Given the description of an element on the screen output the (x, y) to click on. 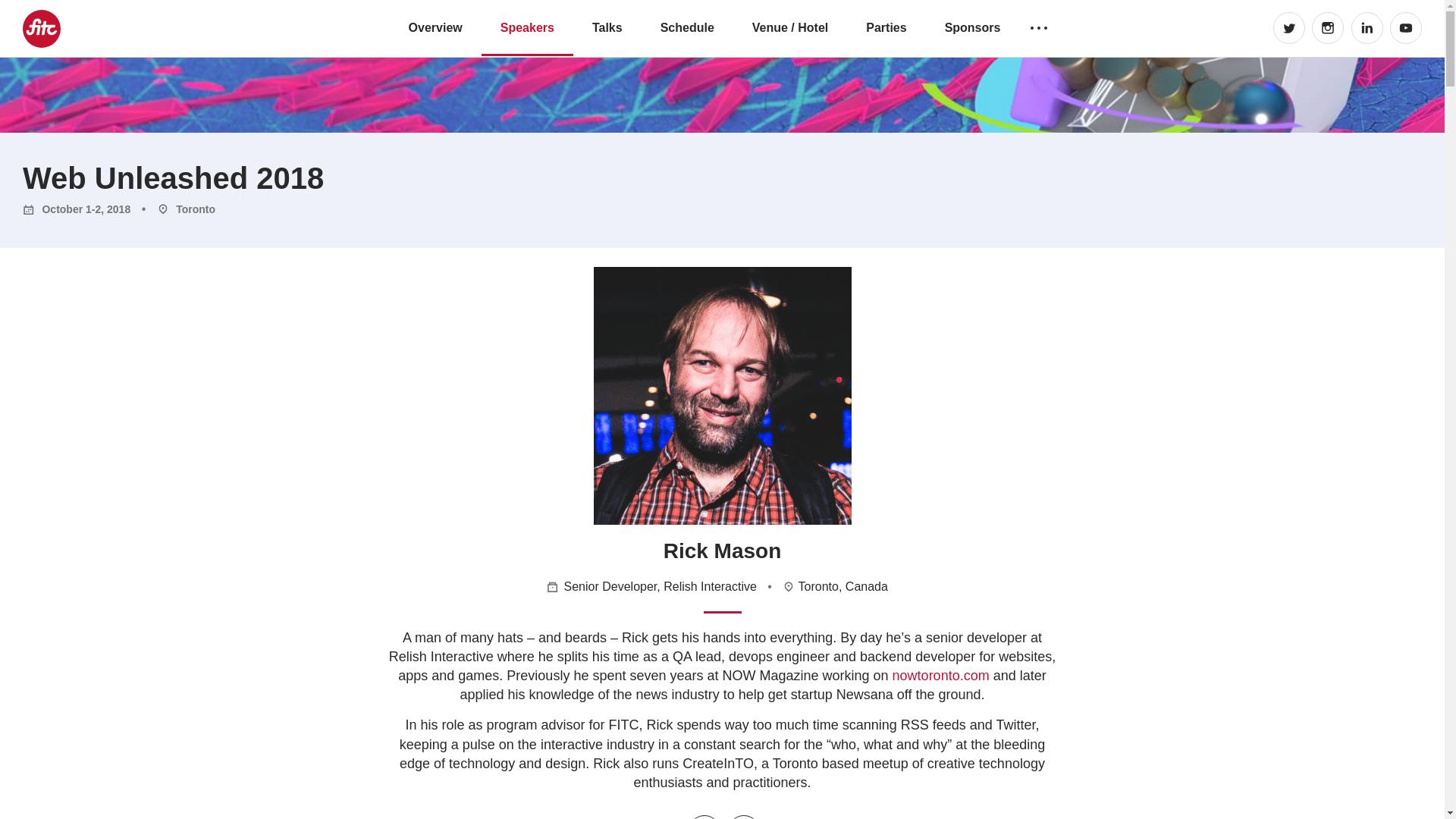
Talks (607, 27)
Overview (435, 27)
Parties (885, 27)
twitter (1288, 28)
Senior Developer, Relish Interactive (660, 585)
twitter (744, 816)
youtube (1406, 28)
Sponsors (973, 27)
linkedin (704, 816)
instagram (1327, 28)
